Given the description of an element on the screen output the (x, y) to click on. 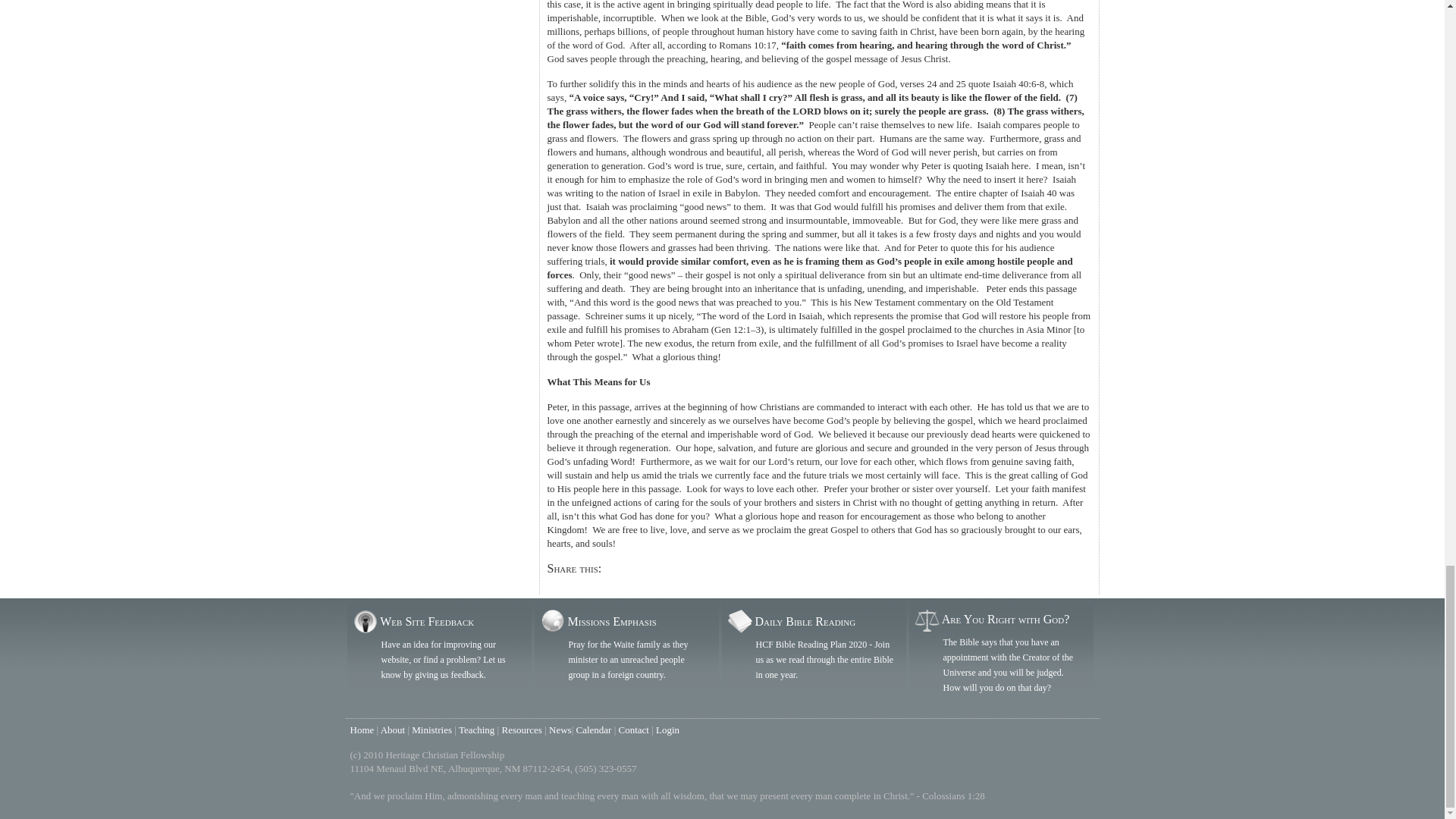
Ministries (431, 729)
Teaching (476, 729)
Are You Right with God? (1006, 618)
Calendar (593, 729)
Web Site Feedback (427, 621)
About (393, 729)
Contact (633, 729)
Login (667, 729)
Home (362, 729)
Missions Emphasis (611, 621)
